Given the description of an element on the screen output the (x, y) to click on. 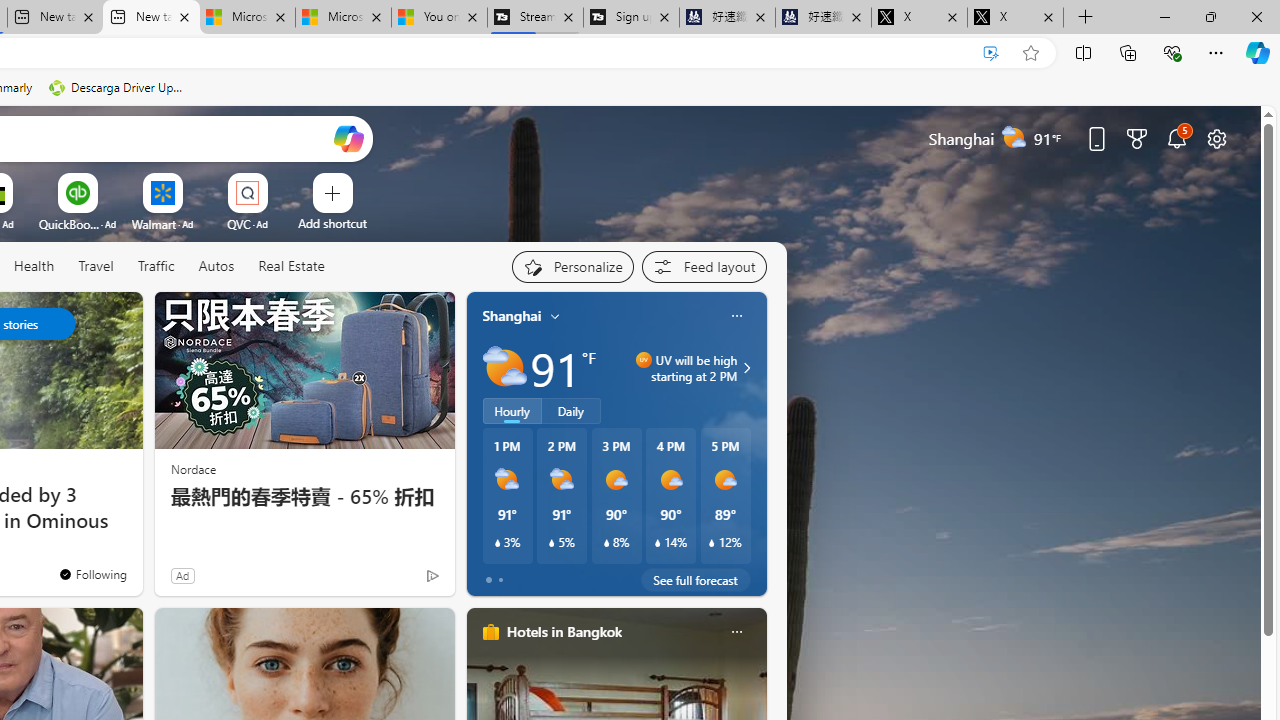
Class: weather-arrow-glyph (746, 367)
